Given the description of an element on the screen output the (x, y) to click on. 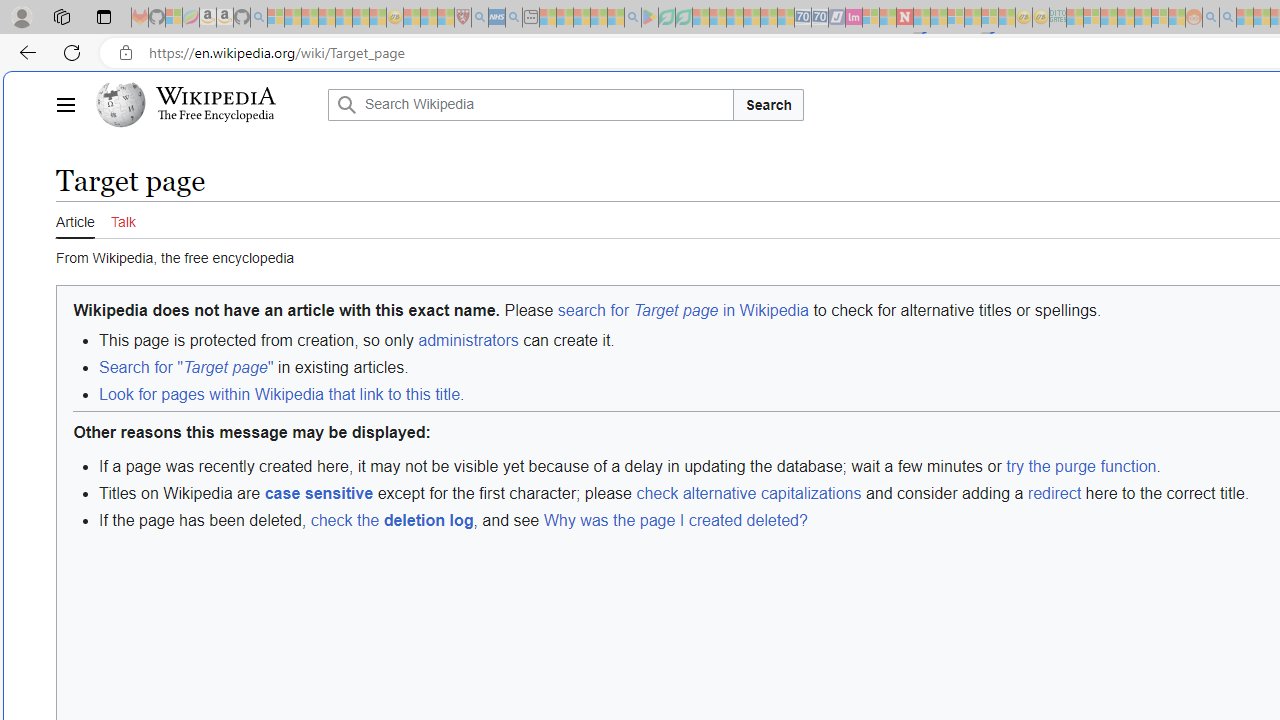
Article (75, 219)
